Given the description of an element on the screen output the (x, y) to click on. 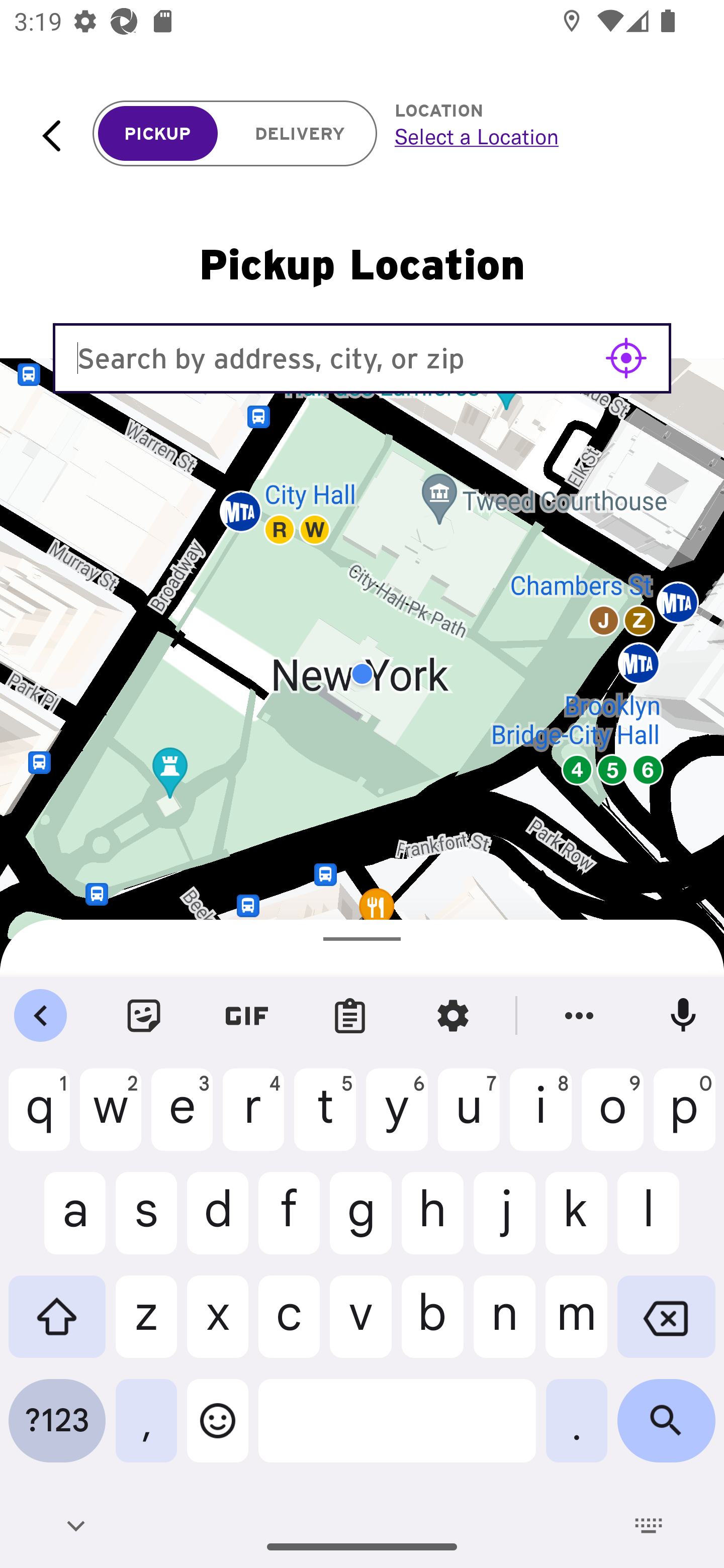
PICKUP (157, 133)
DELIVERY (299, 133)
Select a Location (536, 136)
Search by address, city, or zip (361, 358)
Google Map (362, 674)
